Given the description of an element on the screen output the (x, y) to click on. 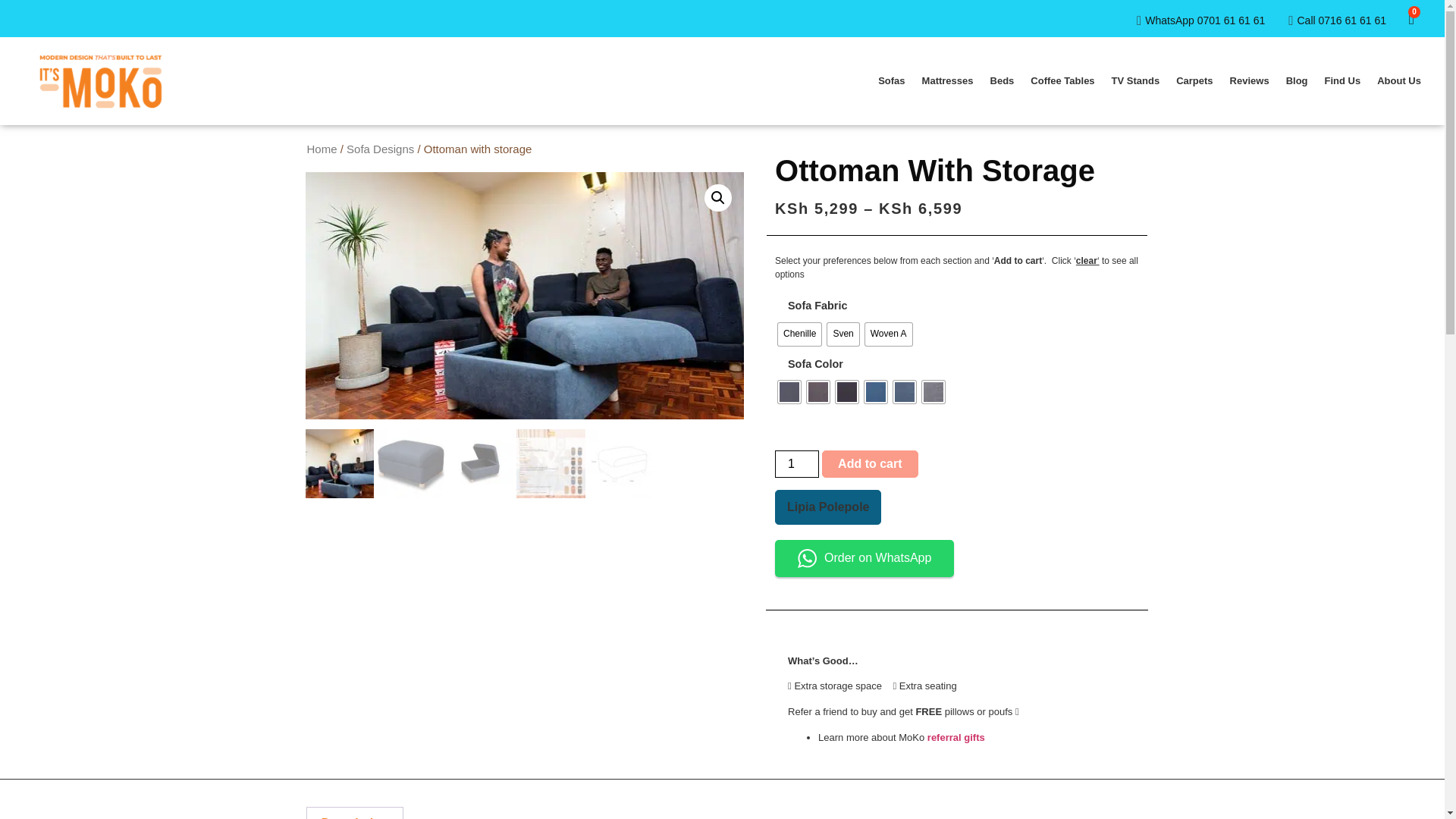
Light Blue (904, 391)
Reviews (1249, 80)
Coffee Tables (1062, 80)
Fio Blue (875, 391)
Find Us (1343, 80)
Sven (843, 333)
Add to cart (869, 463)
Beds (1002, 80)
TV Stands (1136, 80)
Blog (1297, 80)
Chenille (799, 333)
Woven A (888, 333)
Home (320, 148)
Description (353, 813)
About Us (1398, 80)
